Given the description of an element on the screen output the (x, y) to click on. 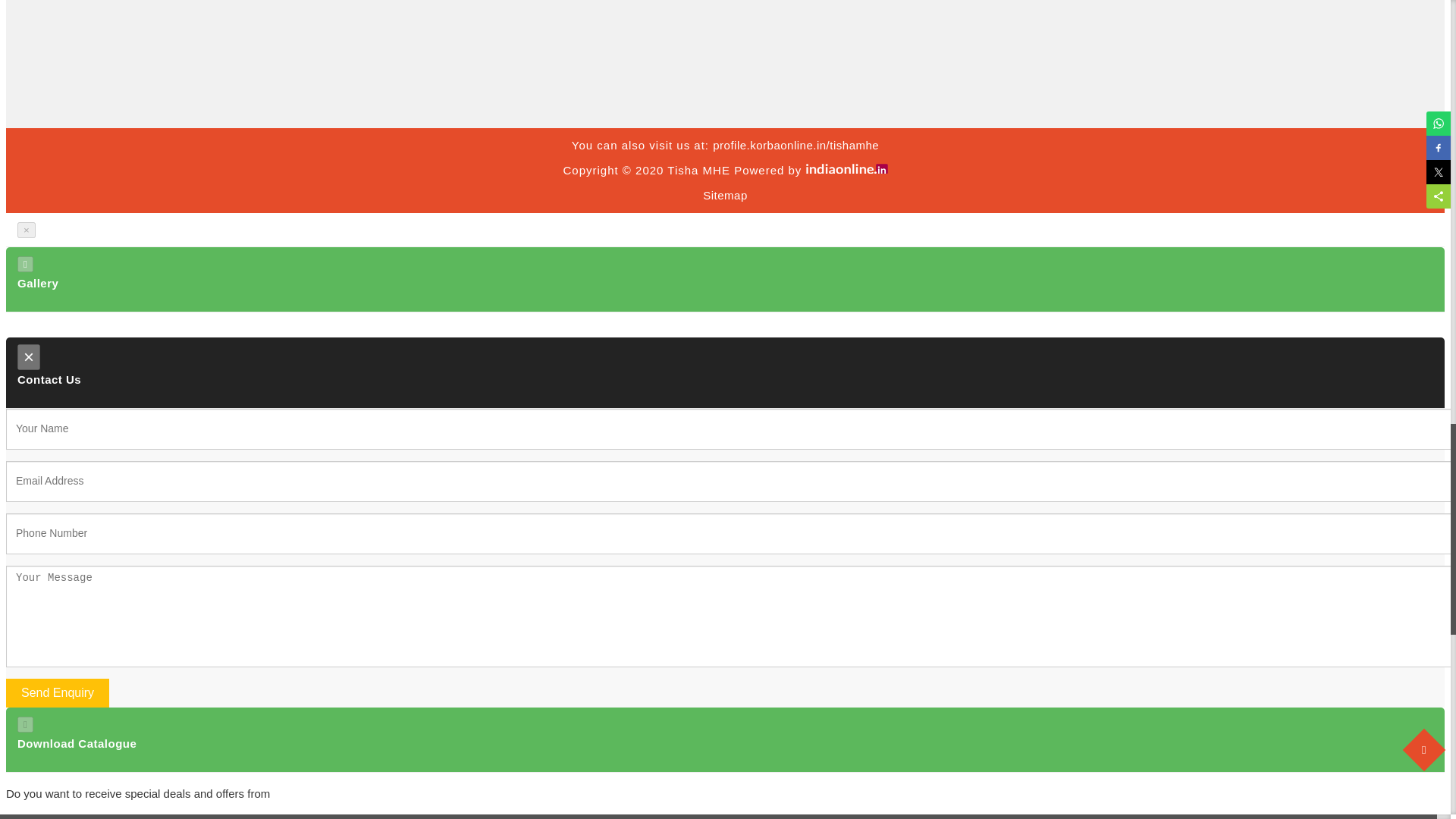
Yes (19, 818)
Your Name (724, 428)
Email Address (724, 481)
Phone Number (724, 533)
Sitemap (725, 195)
No (49, 818)
Send Enquiry (57, 692)
